Given the description of an element on the screen output the (x, y) to click on. 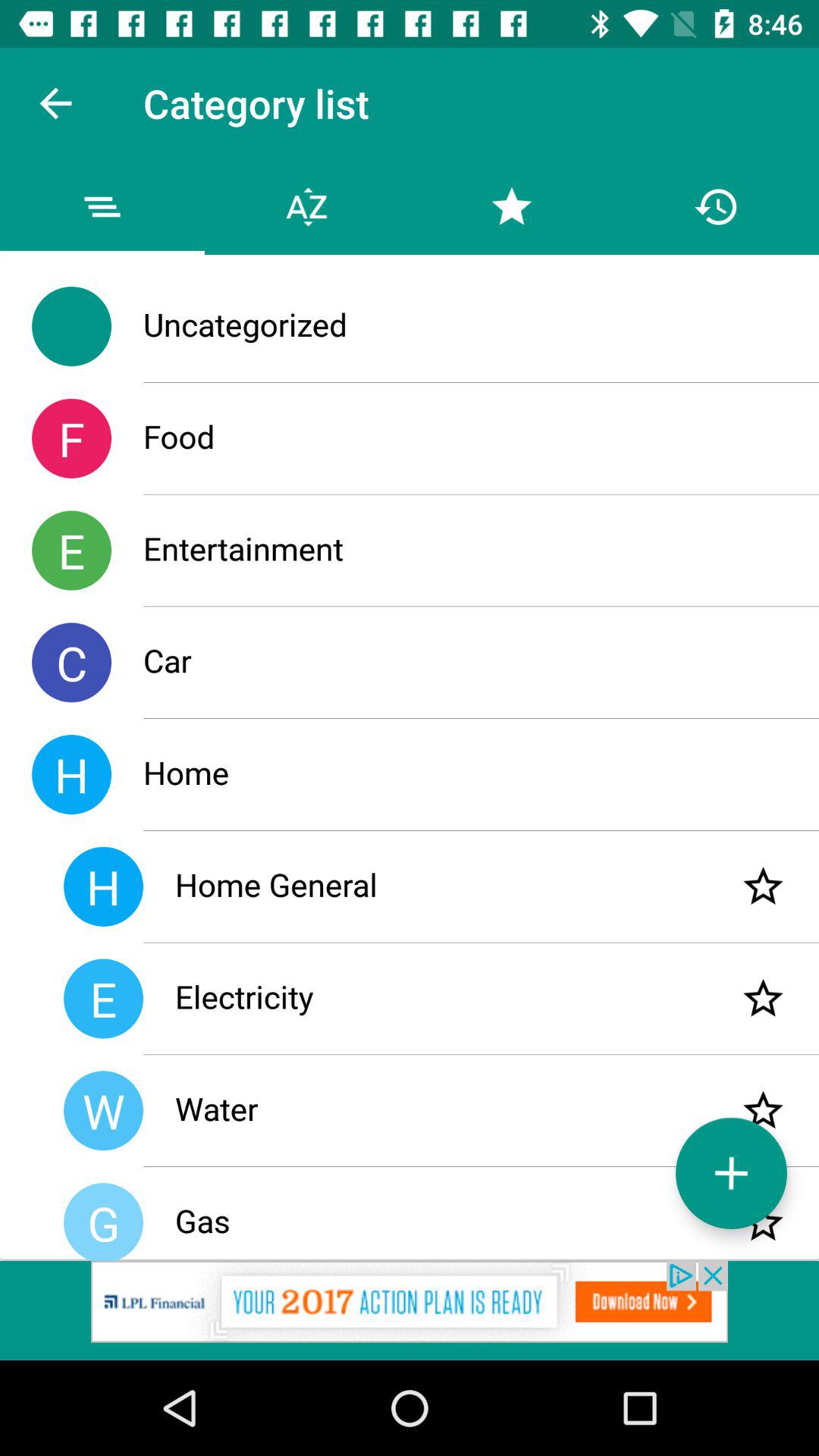
bookmark item (763, 1222)
